Given the description of an element on the screen output the (x, y) to click on. 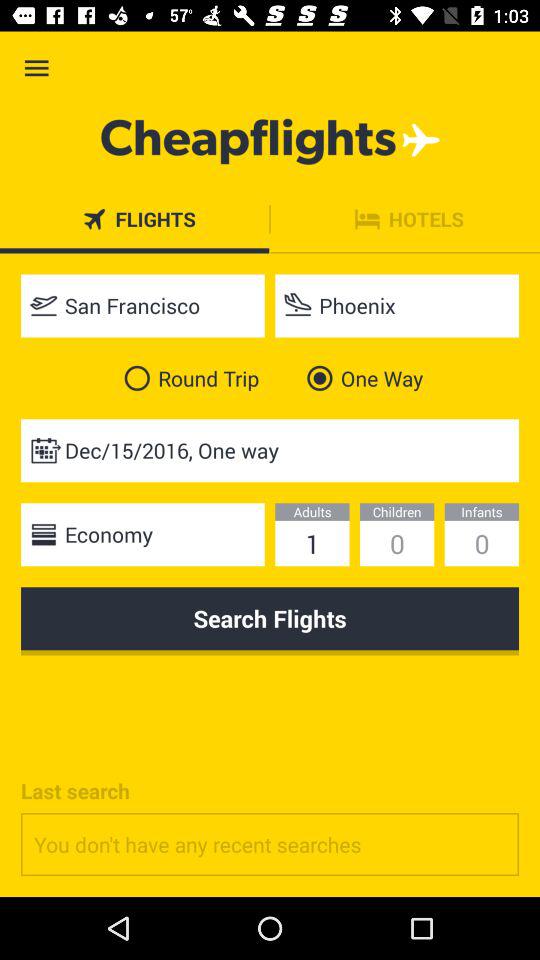
choose the icon above one way (397, 305)
